Given the description of an element on the screen output the (x, y) to click on. 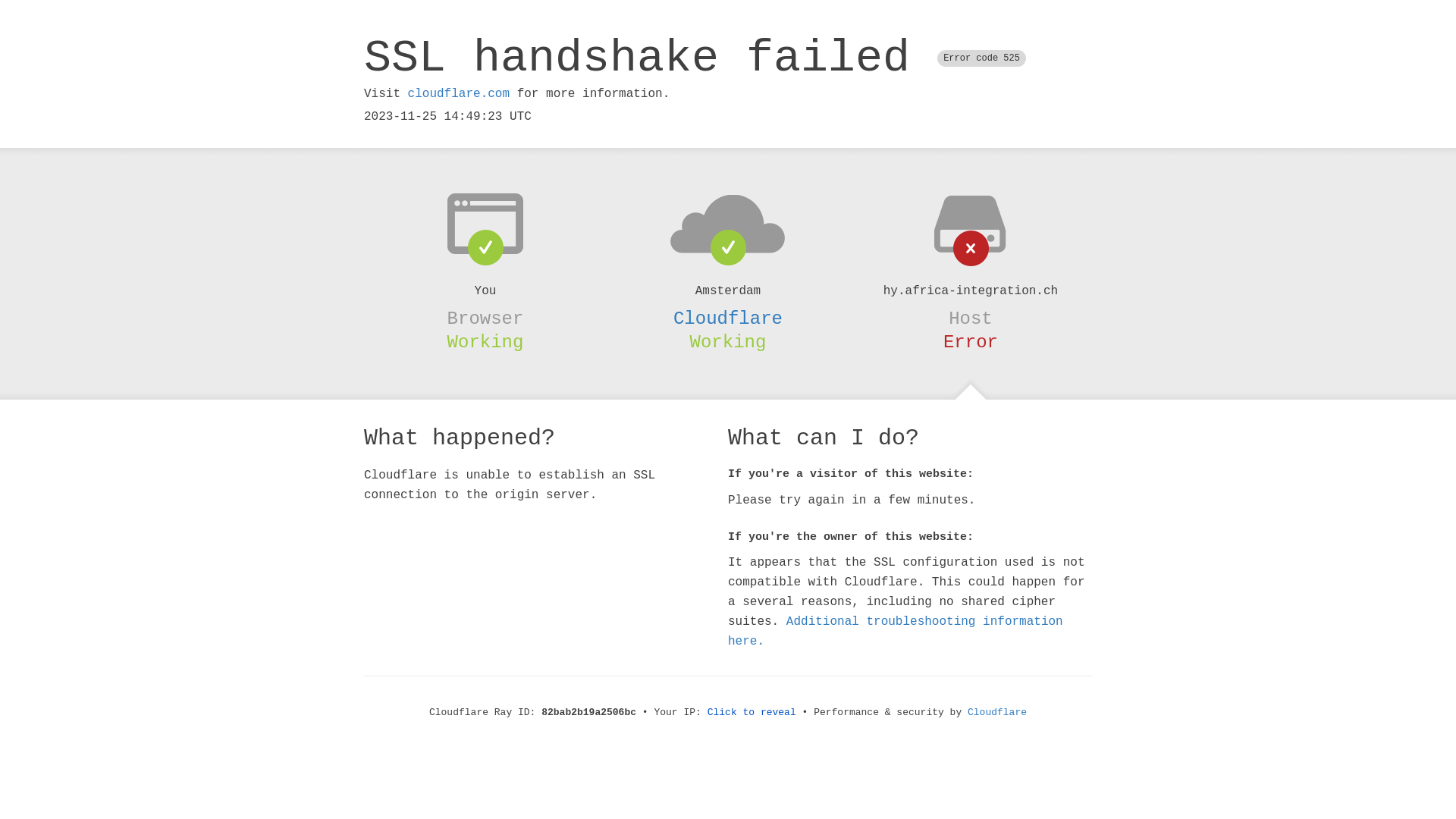
Cloudflare Element type: text (996, 712)
cloudflare.com Element type: text (458, 93)
Cloudflare Element type: text (727, 318)
Additional troubleshooting information here. Element type: text (895, 631)
Click to reveal Element type: text (751, 712)
